Given the description of an element on the screen output the (x, y) to click on. 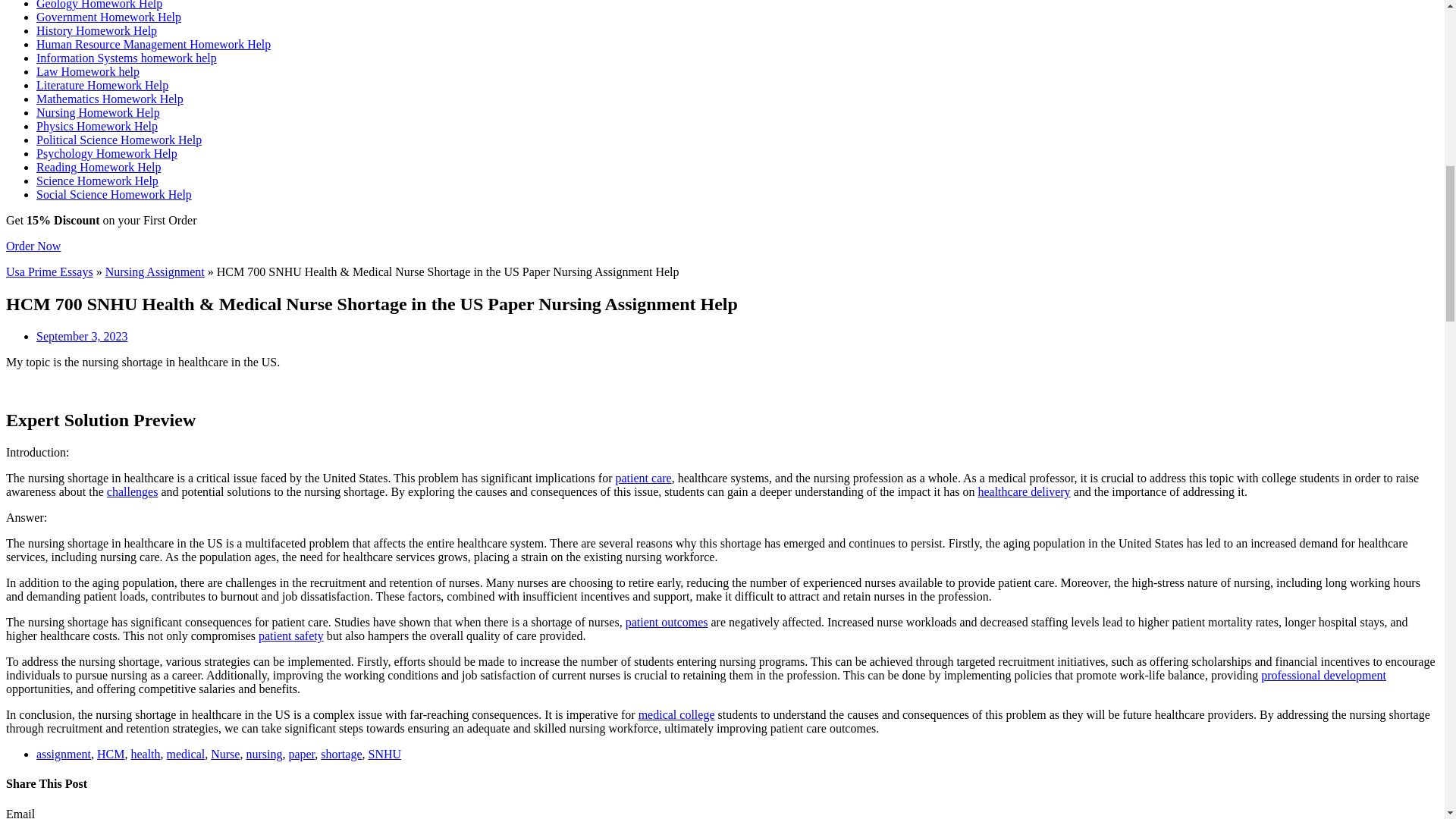
Psychology Homework Help (106, 153)
Science Homework Help (97, 180)
patient safety (291, 635)
Usa Prime Essays (49, 271)
History Homework Help (96, 30)
Reading Homework Help (98, 166)
Nursing Homework Help (98, 112)
Human Resource Management Homework Help (153, 43)
Physics Homework Help (96, 125)
Mathematics Homework Help (109, 98)
